Given the description of an element on the screen output the (x, y) to click on. 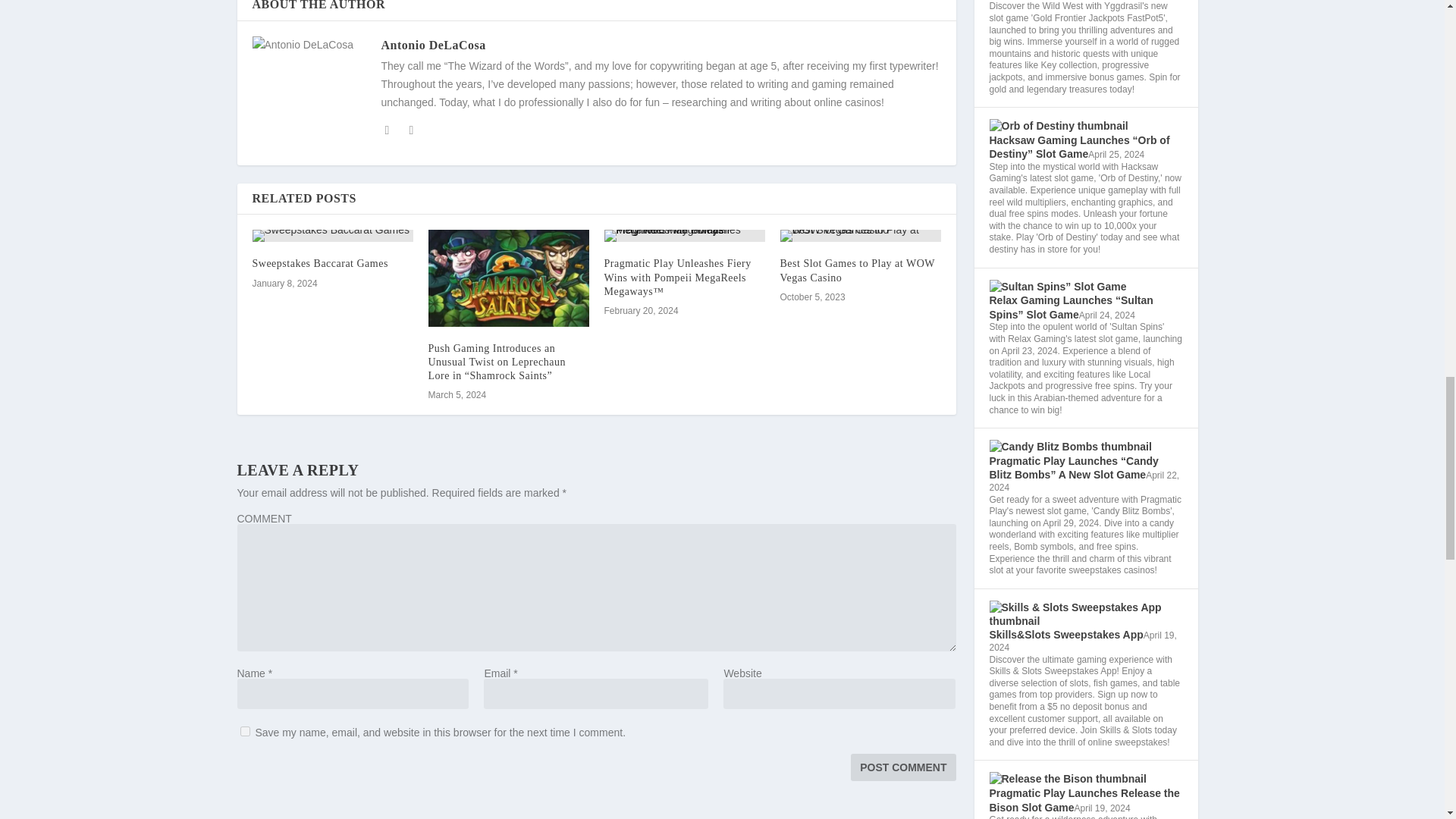
yes (244, 731)
Antonio DeLaCosa (432, 44)
Best Slot Games to Play at WOW Vegas Casino (856, 269)
Post Comment (902, 767)
View all posts by Antonio DeLaCosa (432, 44)
Best Slot Games to Play at WOW Vegas Casino (859, 235)
Sweepstakes Baccarat Games (319, 263)
Sweepstakes Baccarat Games (331, 235)
Post Comment (902, 767)
